Given the description of an element on the screen output the (x, y) to click on. 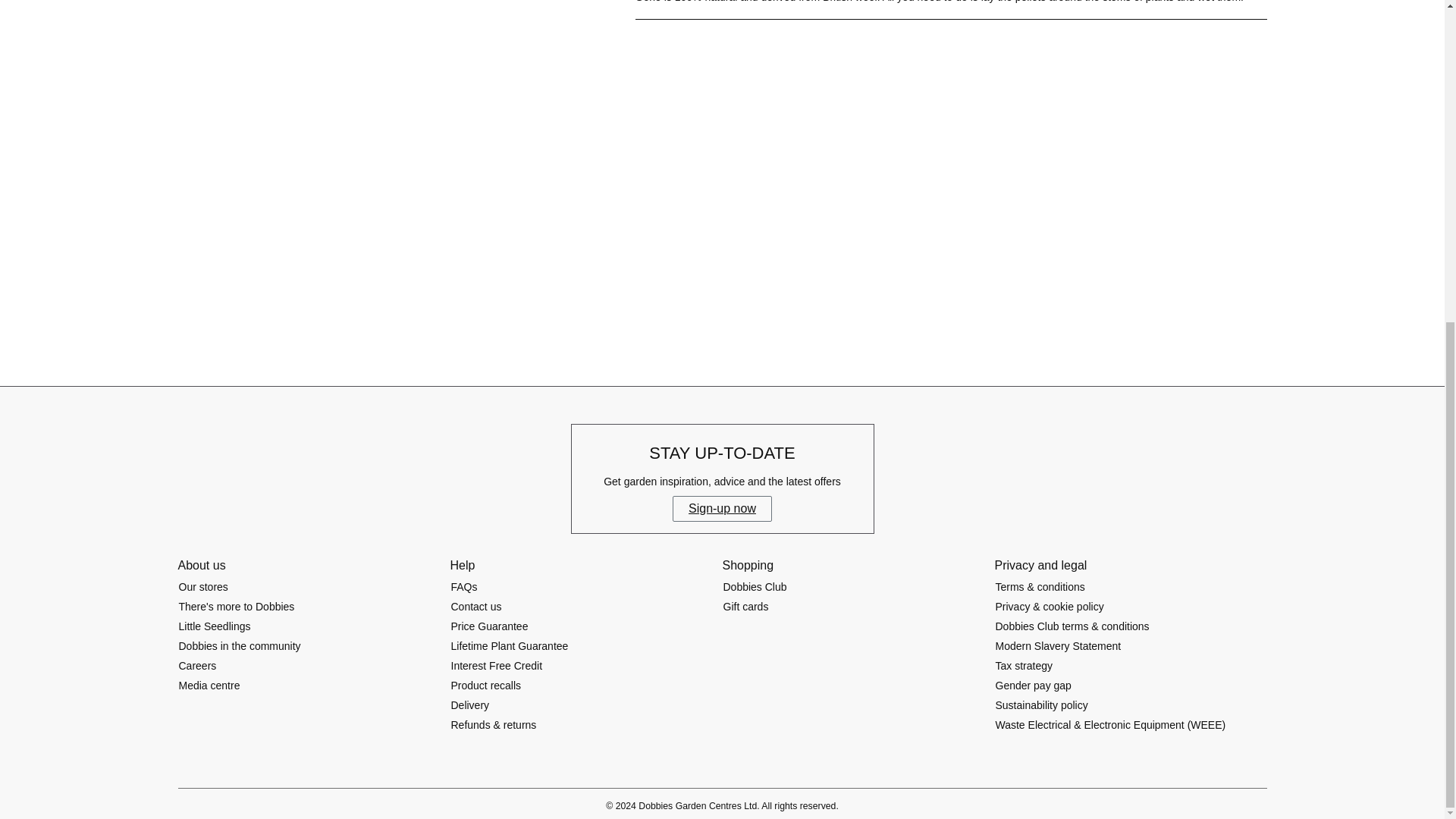
Careers (196, 665)
Product recalls (485, 685)
Media centre (208, 685)
Lifetime Plant Guarantee (509, 645)
Sign-up now (721, 508)
Little Seedlings (213, 626)
Price Guarantee (489, 626)
Interest Free Credit (496, 665)
Delivery (469, 704)
FAQs (464, 586)
Our stores (202, 586)
Dobbies in the community (239, 645)
Contact us (475, 606)
There's more to Dobbies (236, 606)
